Given the description of an element on the screen output the (x, y) to click on. 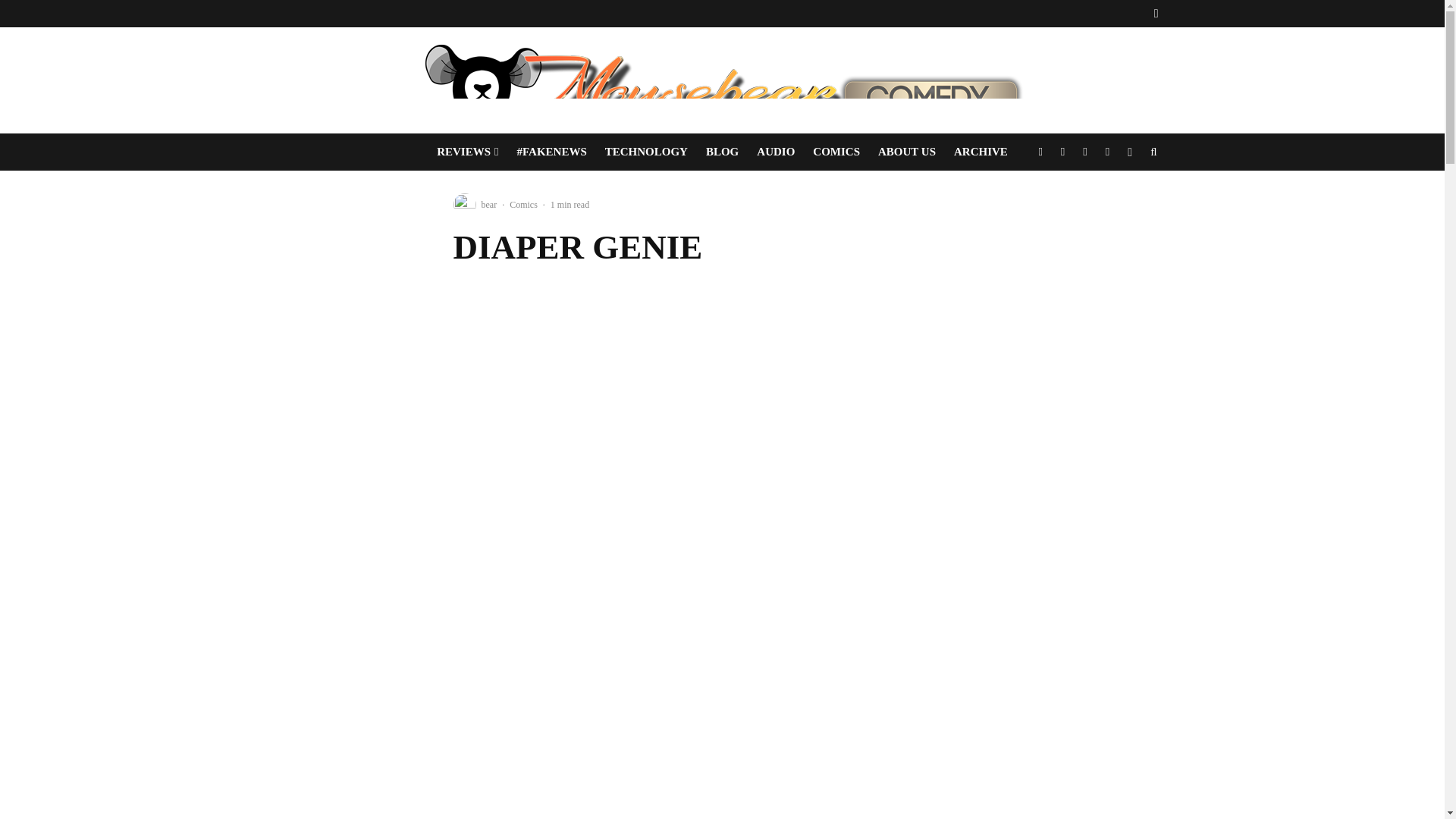
REVIEWS (467, 151)
COMICS (836, 151)
AUDIO (775, 151)
BLOG (722, 151)
ARCHIVE (980, 151)
TECHNOLOGY (646, 151)
ABOUT US (906, 151)
